Given the description of an element on the screen output the (x, y) to click on. 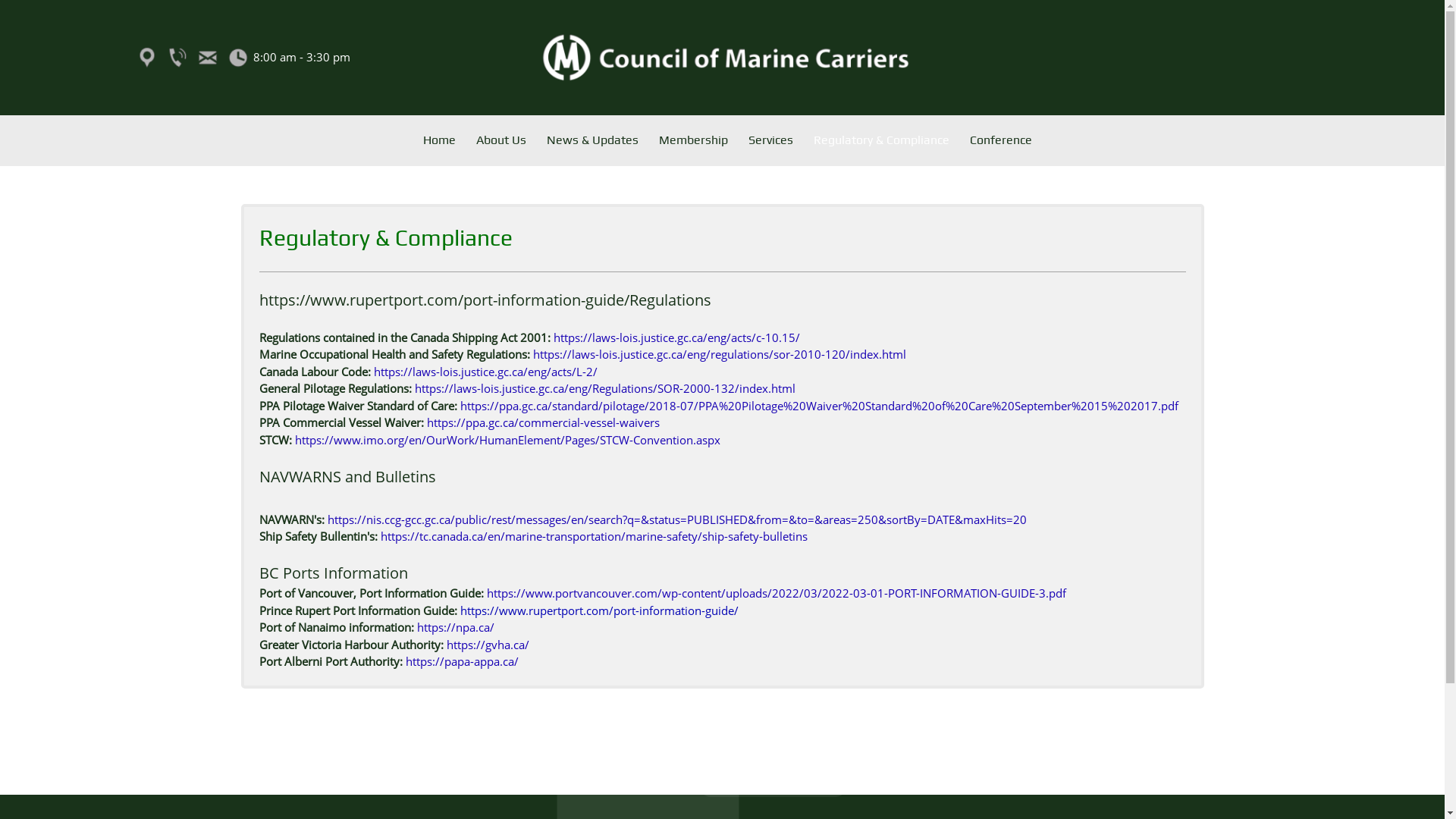
https://www.rupertport.com/port-information-guide/ Element type: text (598, 609)
Open Hours Element type: text (237, 57)
Phone Element type: hover (177, 57)
https://gvha.ca/ Element type: text (486, 644)
Membership Element type: text (693, 142)
About Us Element type: text (501, 142)
https://laws-lois.justice.gc.ca/eng/acts/c-10.15/ Element type: text (676, 336)
Home Element type: text (440, 142)
News & Updates Element type: text (592, 142)
https://laws-lois.justice.gc.ca/eng/acts/L-2/ Element type: text (484, 371)
https://npa.ca/ Element type: text (455, 626)
Regulatory & Compliance Element type: text (881, 142)
https://ppa.gc.ca/commercial-vessel-waivers Element type: text (542, 421)
Conference Element type: text (995, 142)
Go to site home page Element type: hover (721, 57)
Services Element type: text (770, 142)
Email Element type: hover (207, 57)
https://papa-appa.ca/ Element type: text (460, 660)
Address Element type: hover (146, 57)
